Given the description of an element on the screen output the (x, y) to click on. 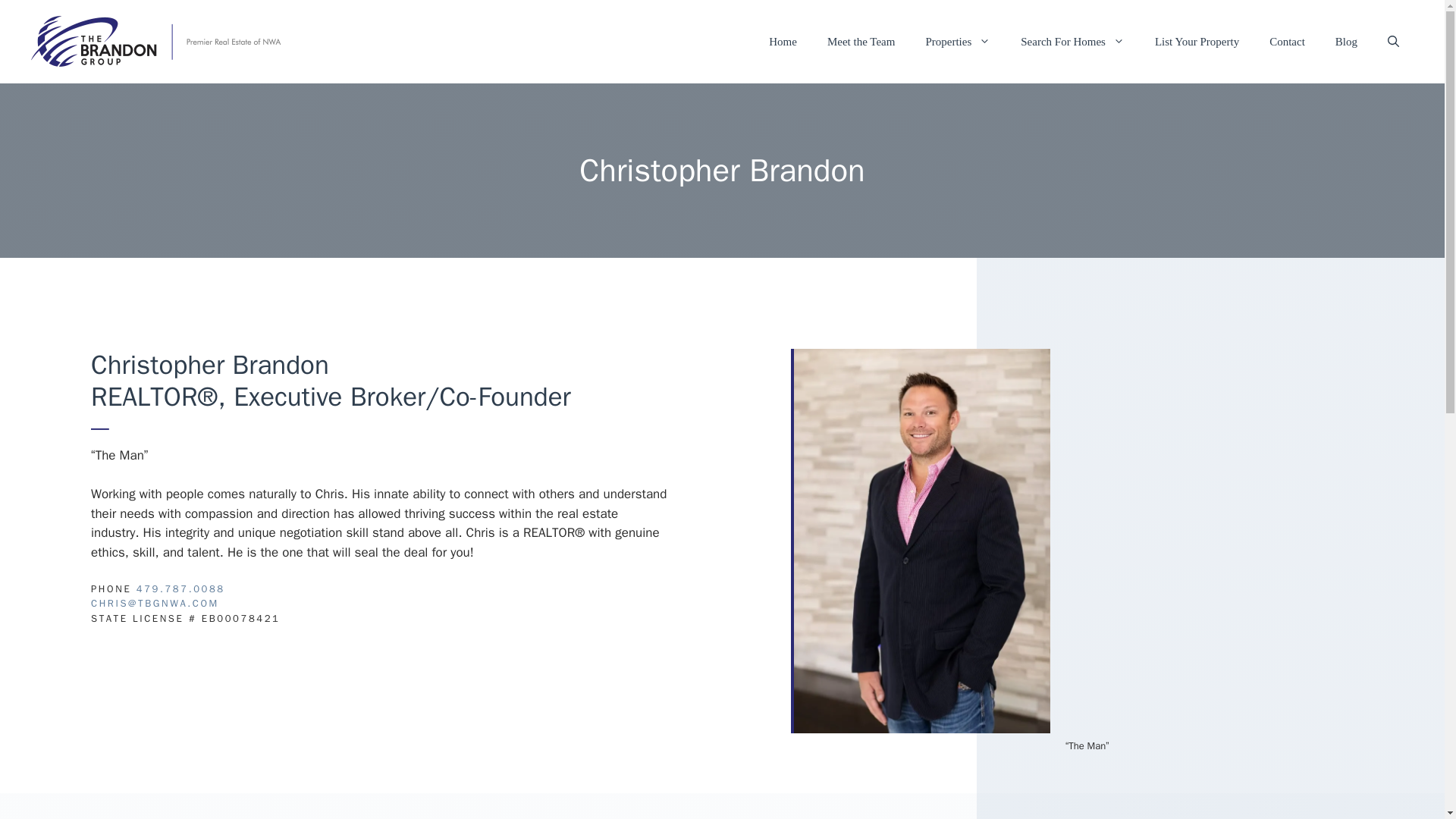
479.787.0088 (180, 588)
The Brandon Group (162, 40)
List Your Property (1196, 41)
Home (783, 41)
Contact (1286, 41)
The Brandon Group (162, 41)
Search For Homes (1073, 41)
Meet the Team (861, 41)
Properties (958, 41)
Blog (1346, 41)
